Given the description of an element on the screen output the (x, y) to click on. 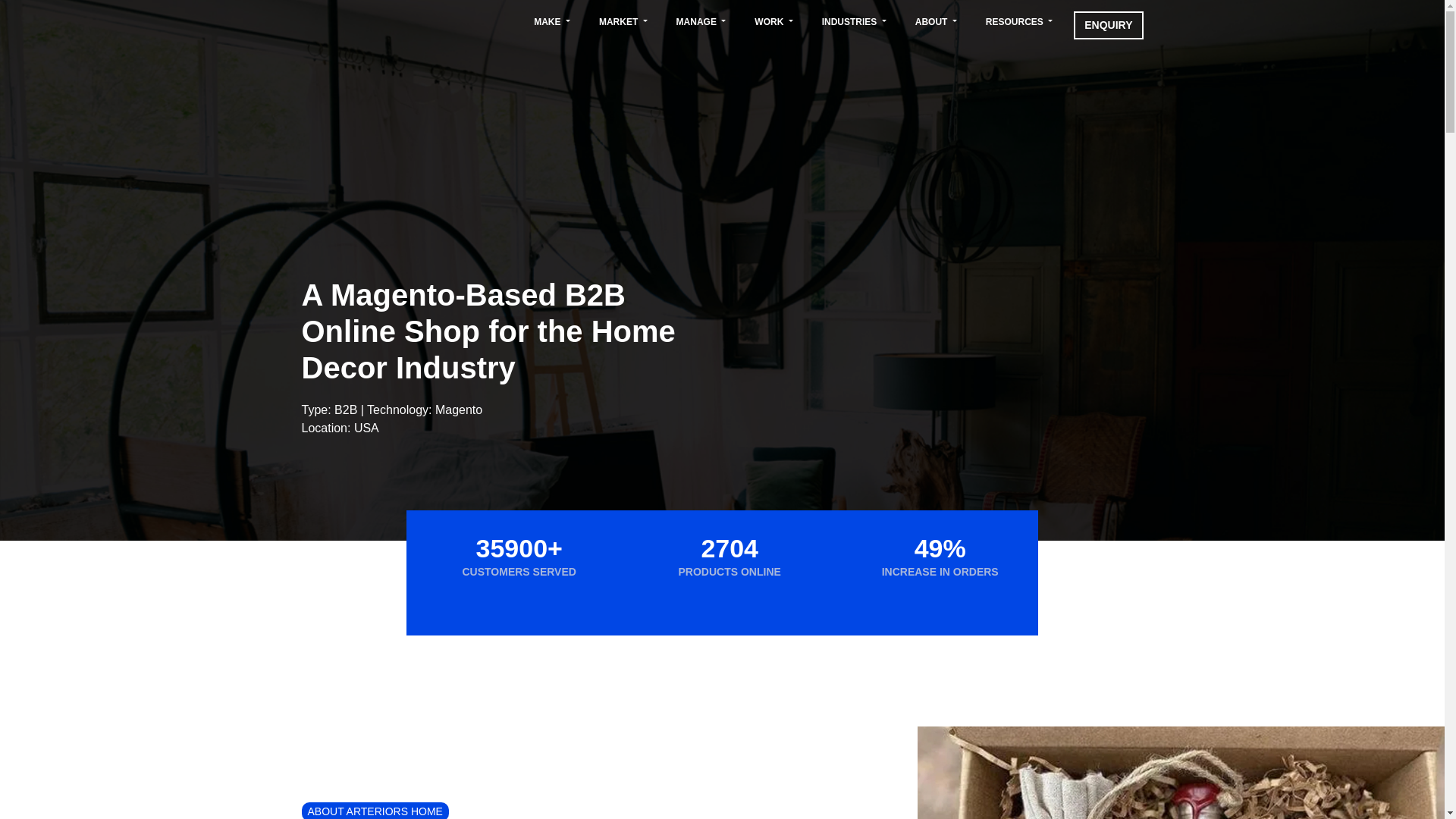
MAKE (551, 20)
MANAGE (700, 20)
RESOURCES (1018, 20)
ABOUT (935, 20)
MARKET (623, 20)
WORK (772, 20)
INDUSTRIES (853, 20)
